Given the description of an element on the screen output the (x, y) to click on. 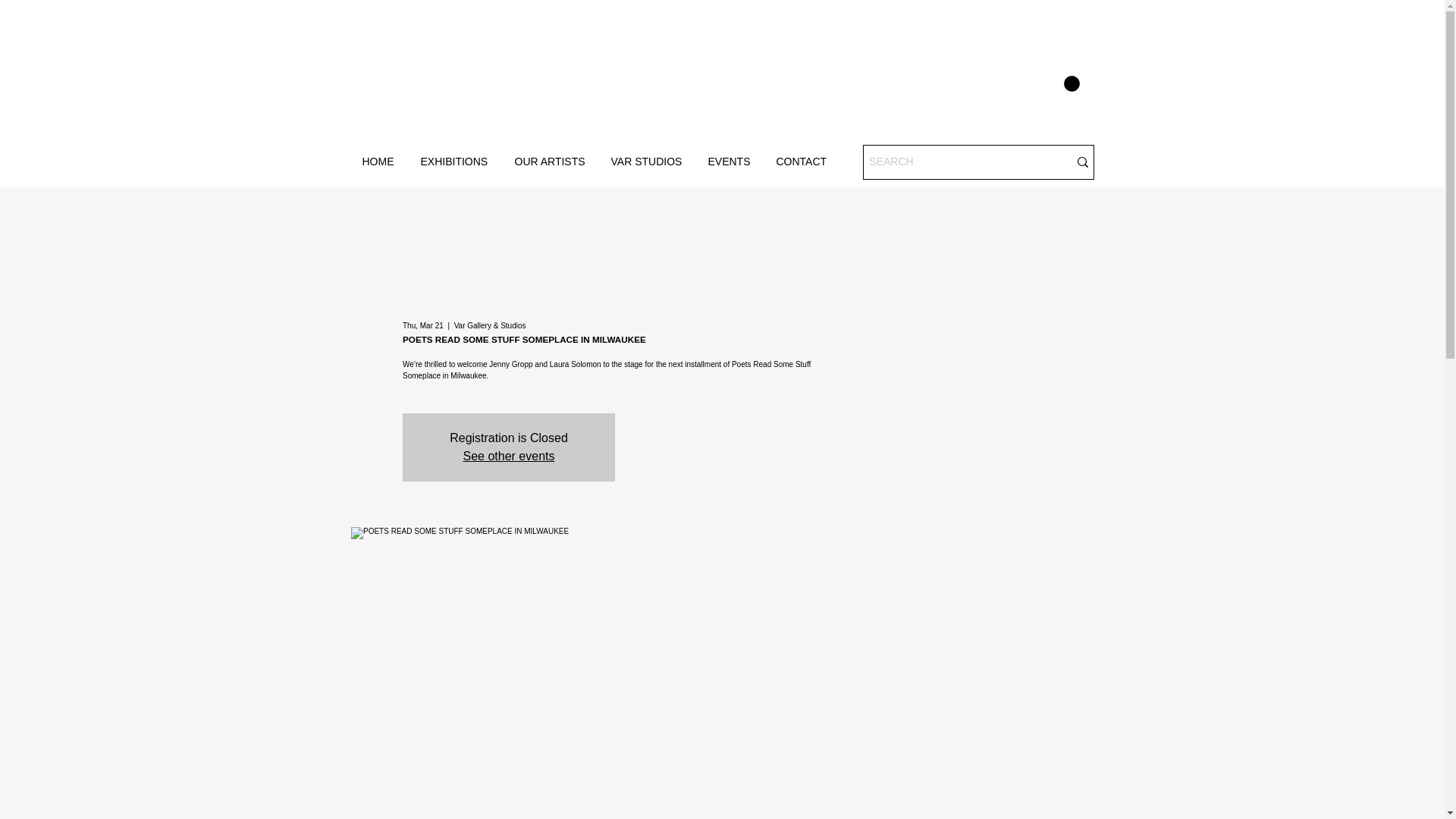
CONTACT (802, 161)
EVENTS (729, 161)
HOME (379, 161)
VAR STUDIOS (646, 161)
See other events (508, 455)
OUR ARTISTS (551, 161)
